Given the description of an element on the screen output the (x, y) to click on. 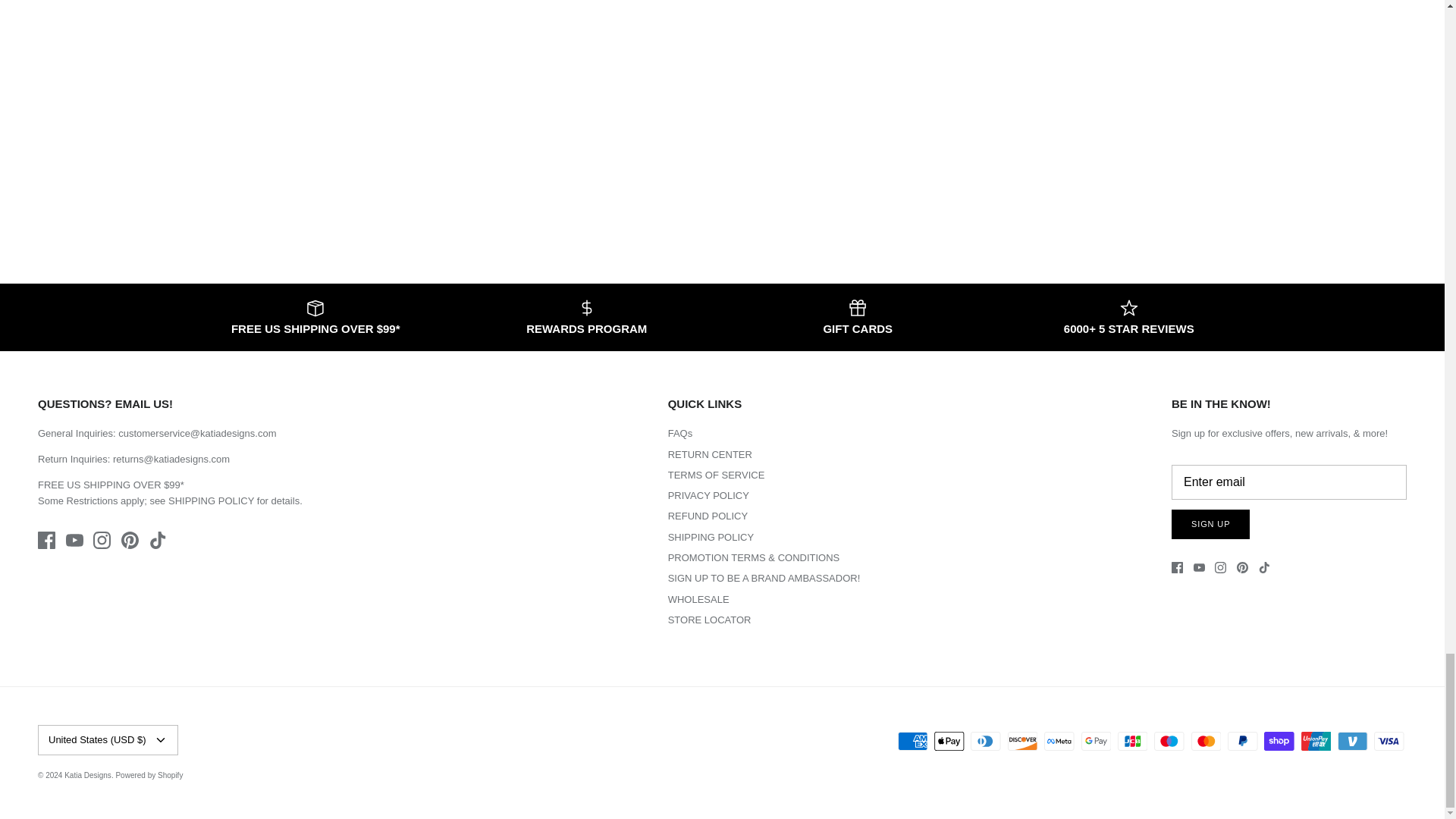
Shipping Policy (210, 500)
